Given the description of an element on the screen output the (x, y) to click on. 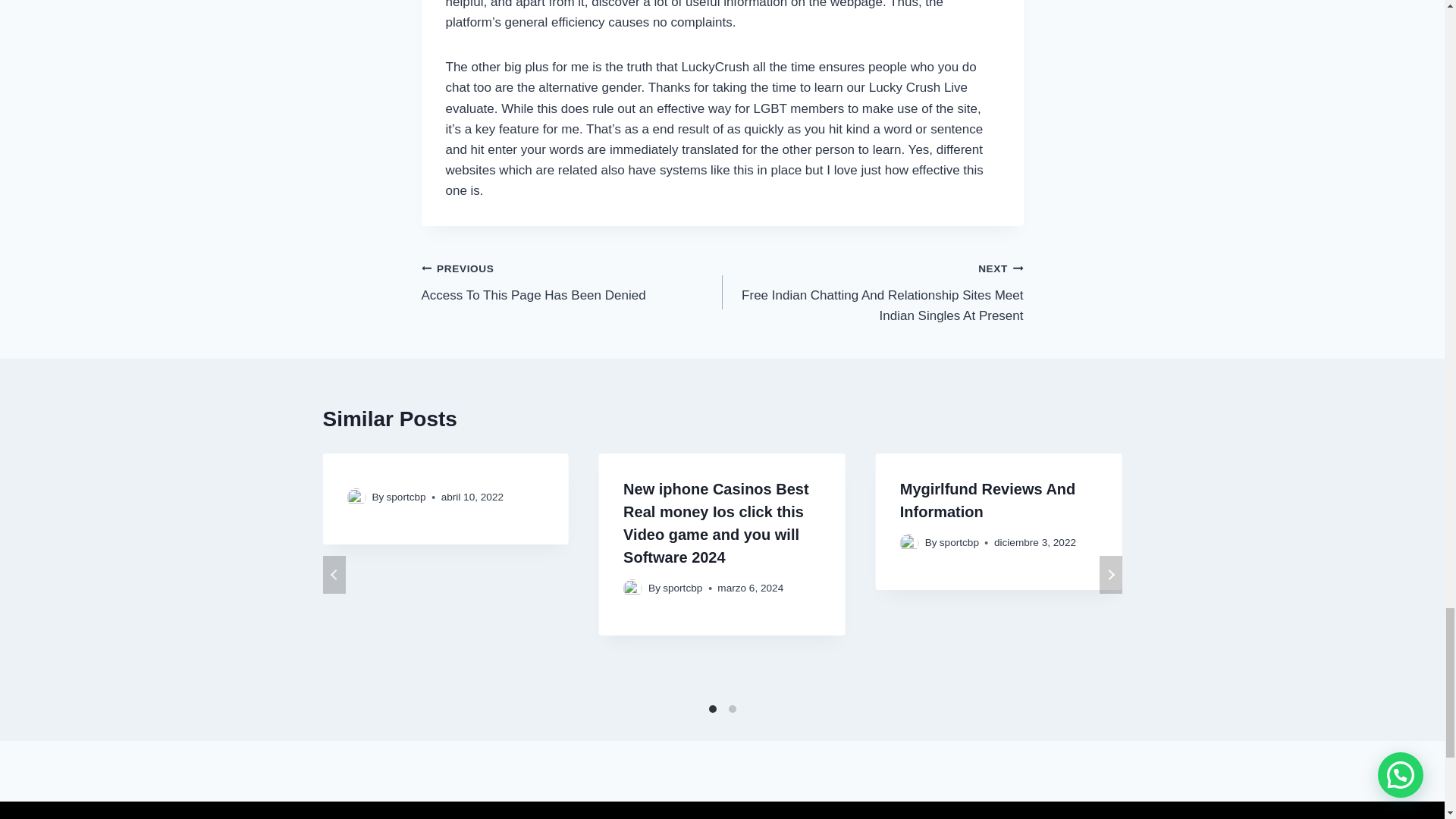
prev (334, 574)
next (572, 281)
